Given the description of an element on the screen output the (x, y) to click on. 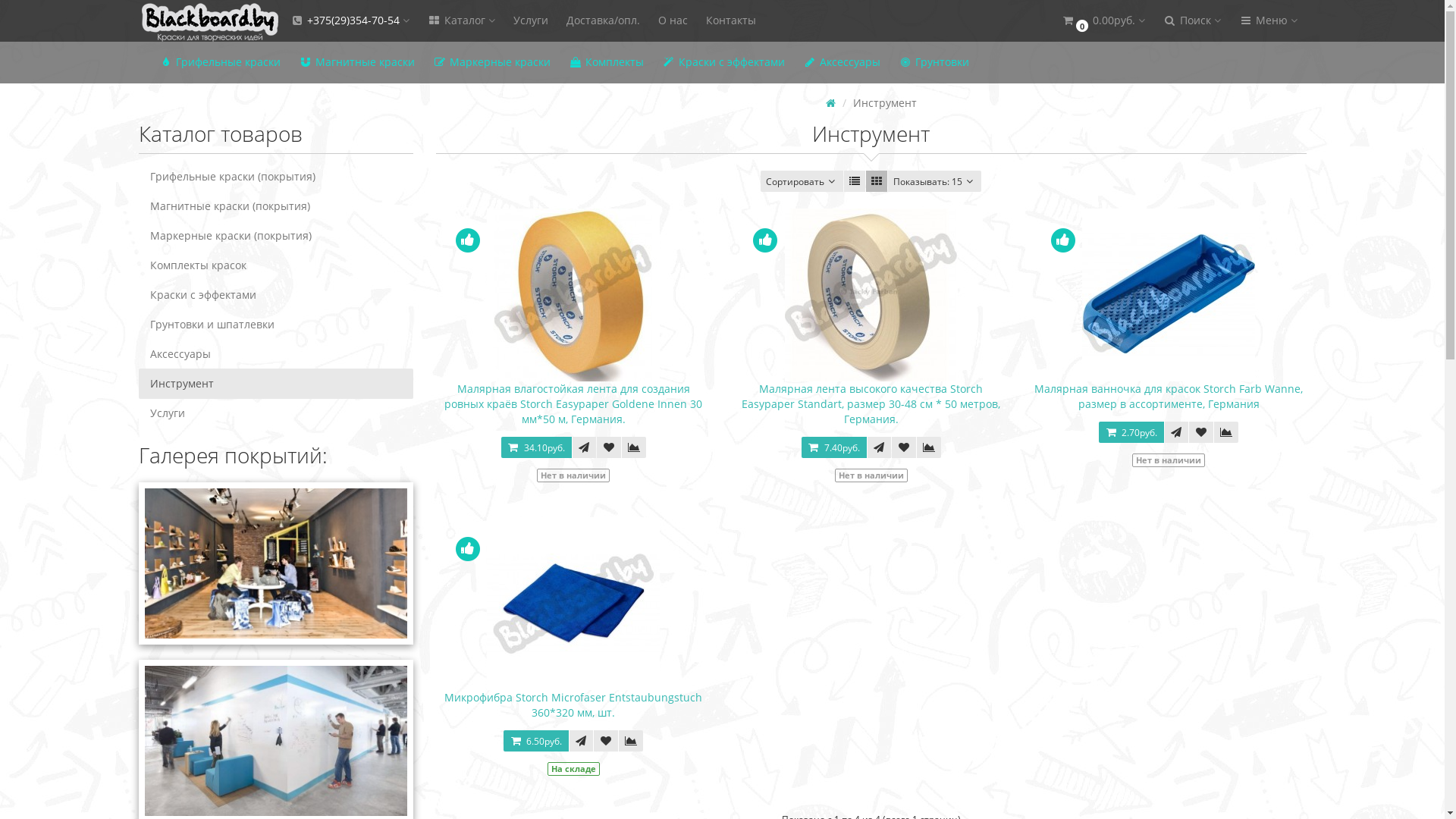
+375(29)354-70-54 Element type: text (348, 20)
